Given the description of an element on the screen output the (x, y) to click on. 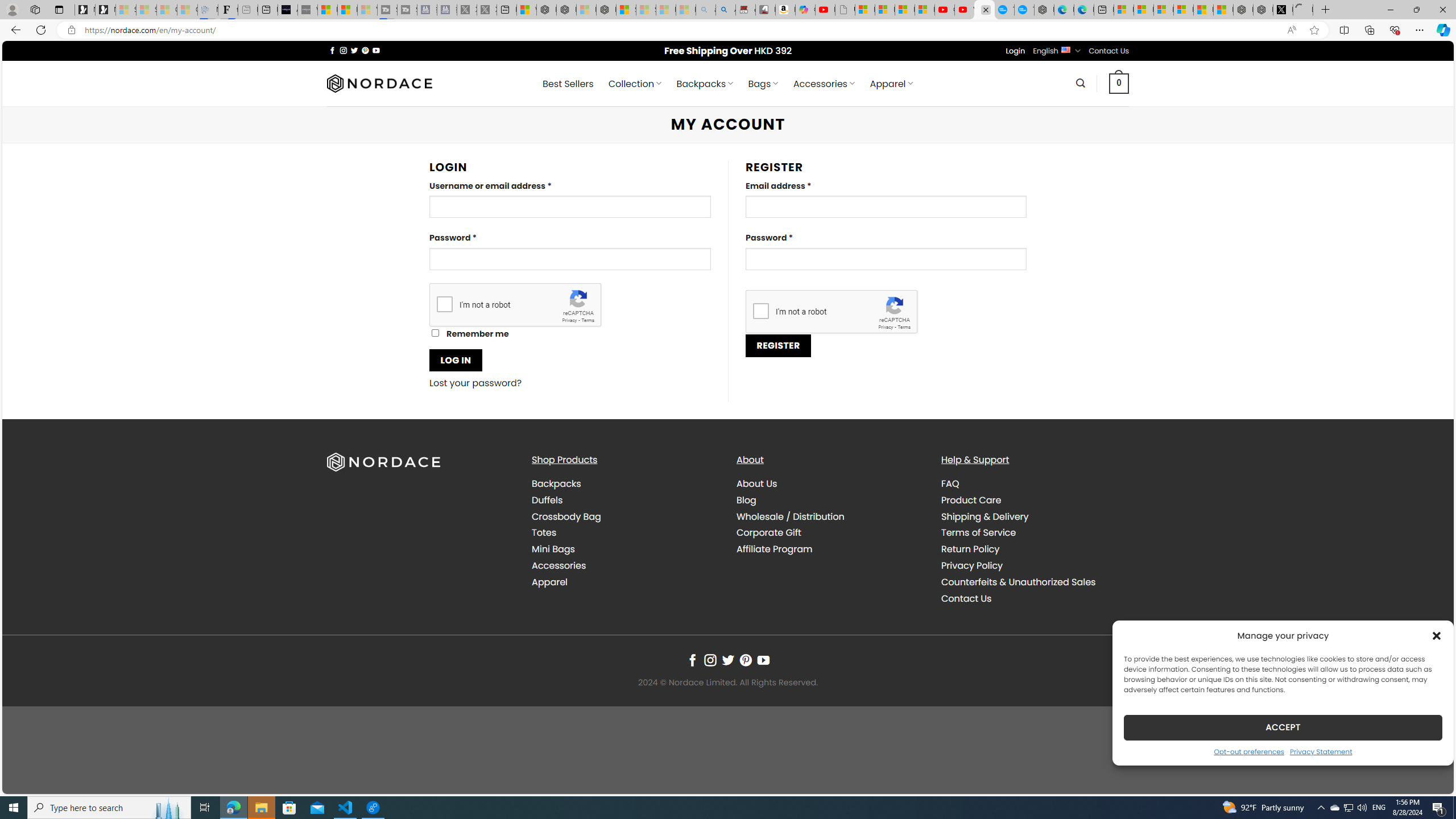
Shipping & Delivery (1034, 516)
Shipping & Delivery (984, 516)
Class: cmplz-close (1436, 635)
YouTube Kids - An App Created for Kids to Explore Content (964, 9)
REGISTER (777, 345)
Nordace - My Account (983, 9)
FAQ (949, 483)
